Given the description of an element on the screen output the (x, y) to click on. 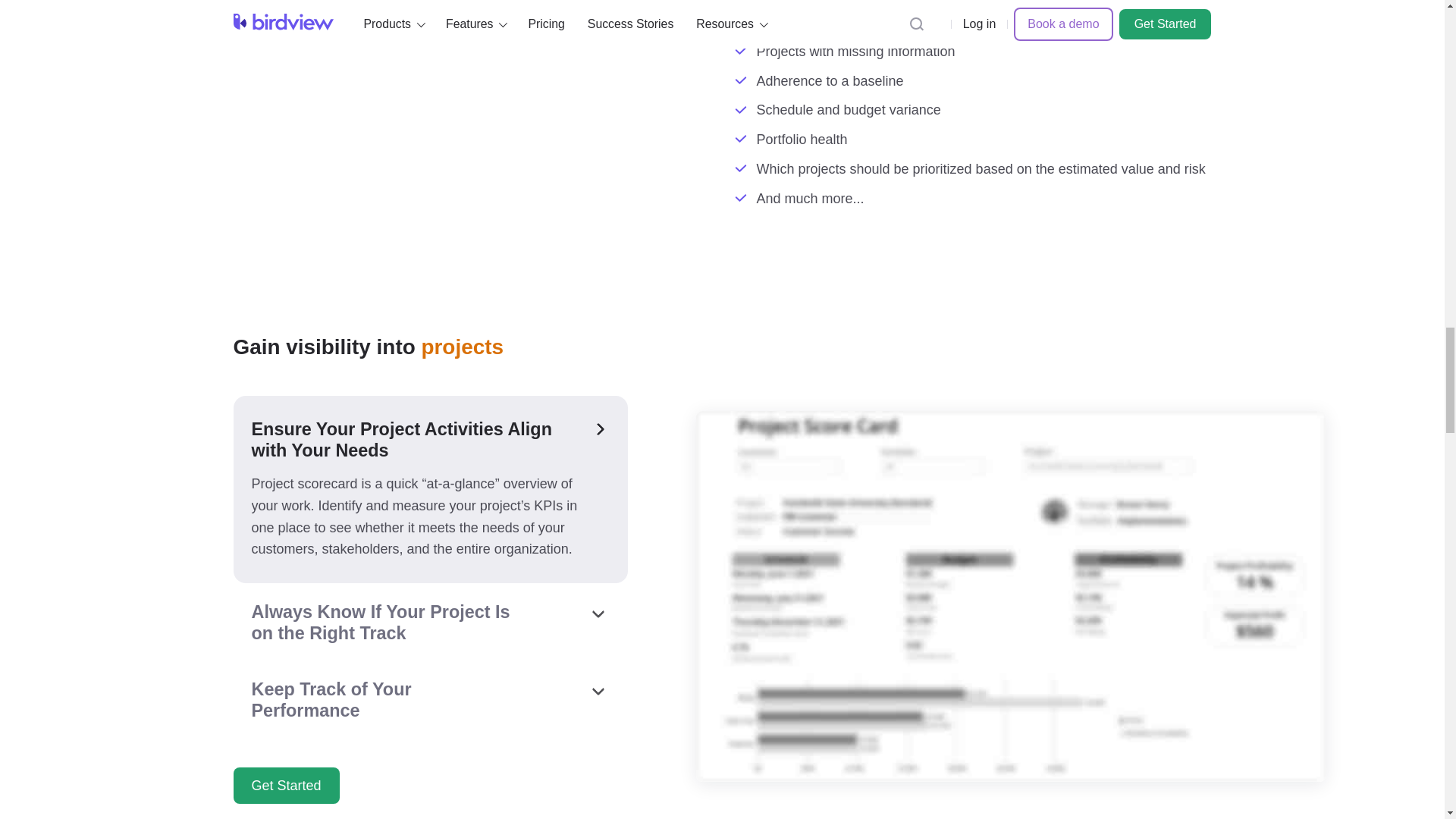
Get Started (285, 785)
